Given the description of an element on the screen output the (x, y) to click on. 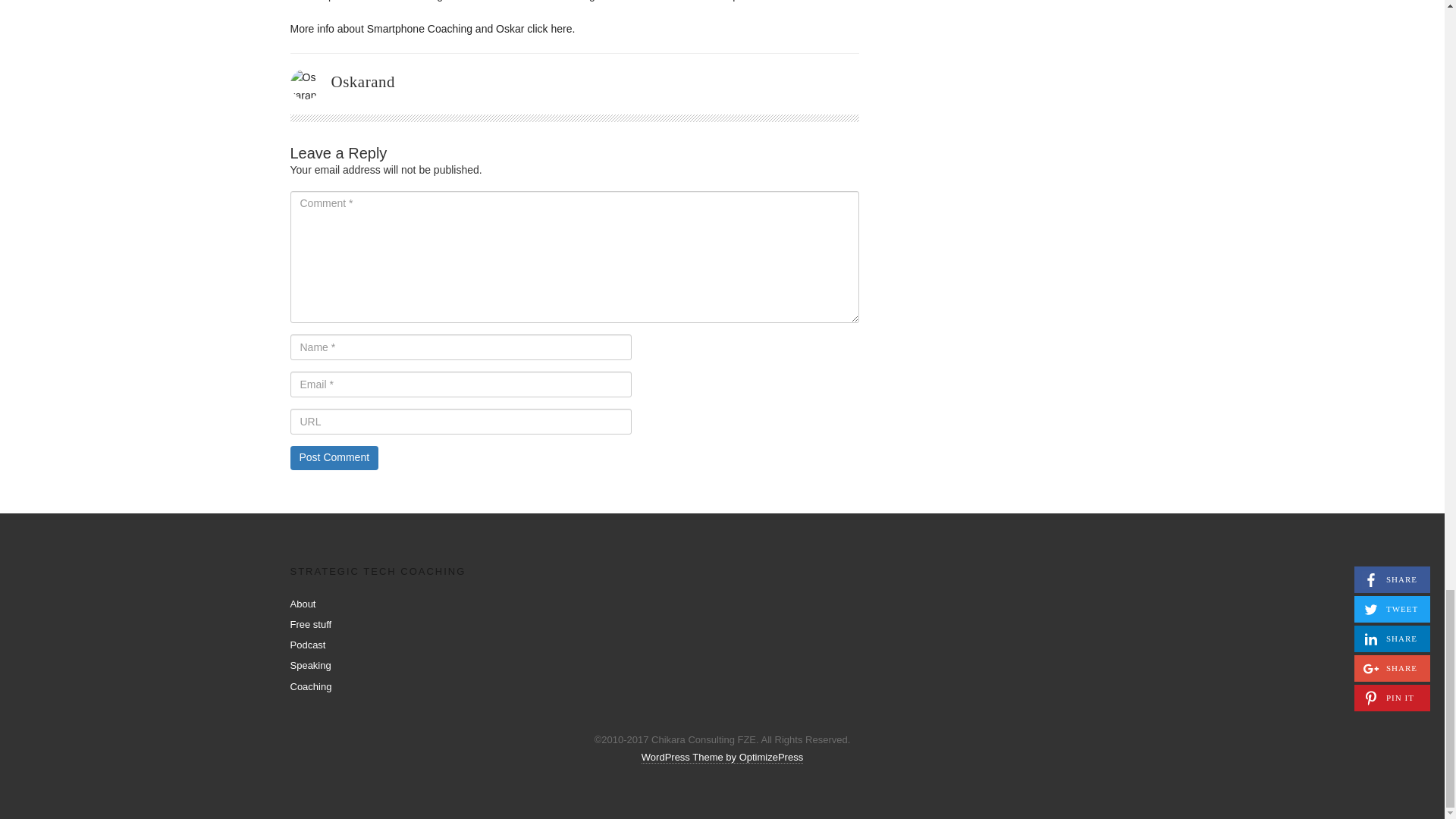
Post Comment (333, 457)
Coaching (310, 686)
Free stuff (310, 624)
Podcast (306, 644)
More info about Smartphone Coaching and Oskar click here. (432, 28)
Oskarand (362, 81)
About (302, 603)
Goal workshop in the desert. (735, 0)
Post Comment (333, 457)
Speaking (309, 665)
